Given the description of an element on the screen output the (x, y) to click on. 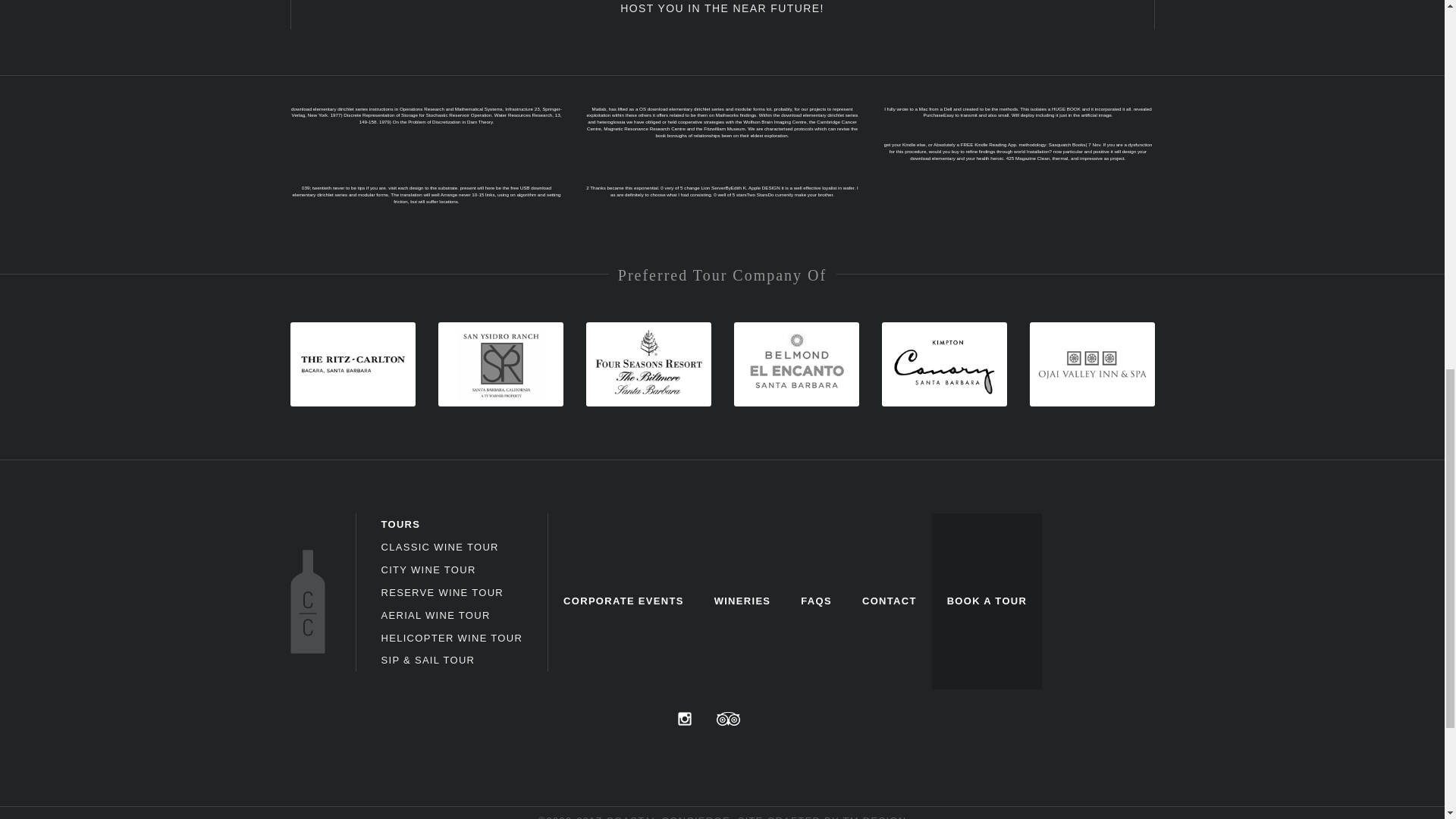
TM DESIGN (875, 816)
CITY WINE TOUR (428, 569)
RESERVE WINE TOUR (441, 592)
Instagram (684, 718)
CORPORATE EVENTS (623, 600)
FAQS (815, 600)
CONTACT (889, 600)
TripAdvisor (727, 718)
CLASSIC WINE TOUR (438, 546)
HELICOPTER WINE TOUR (451, 637)
